Given the description of an element on the screen output the (x, y) to click on. 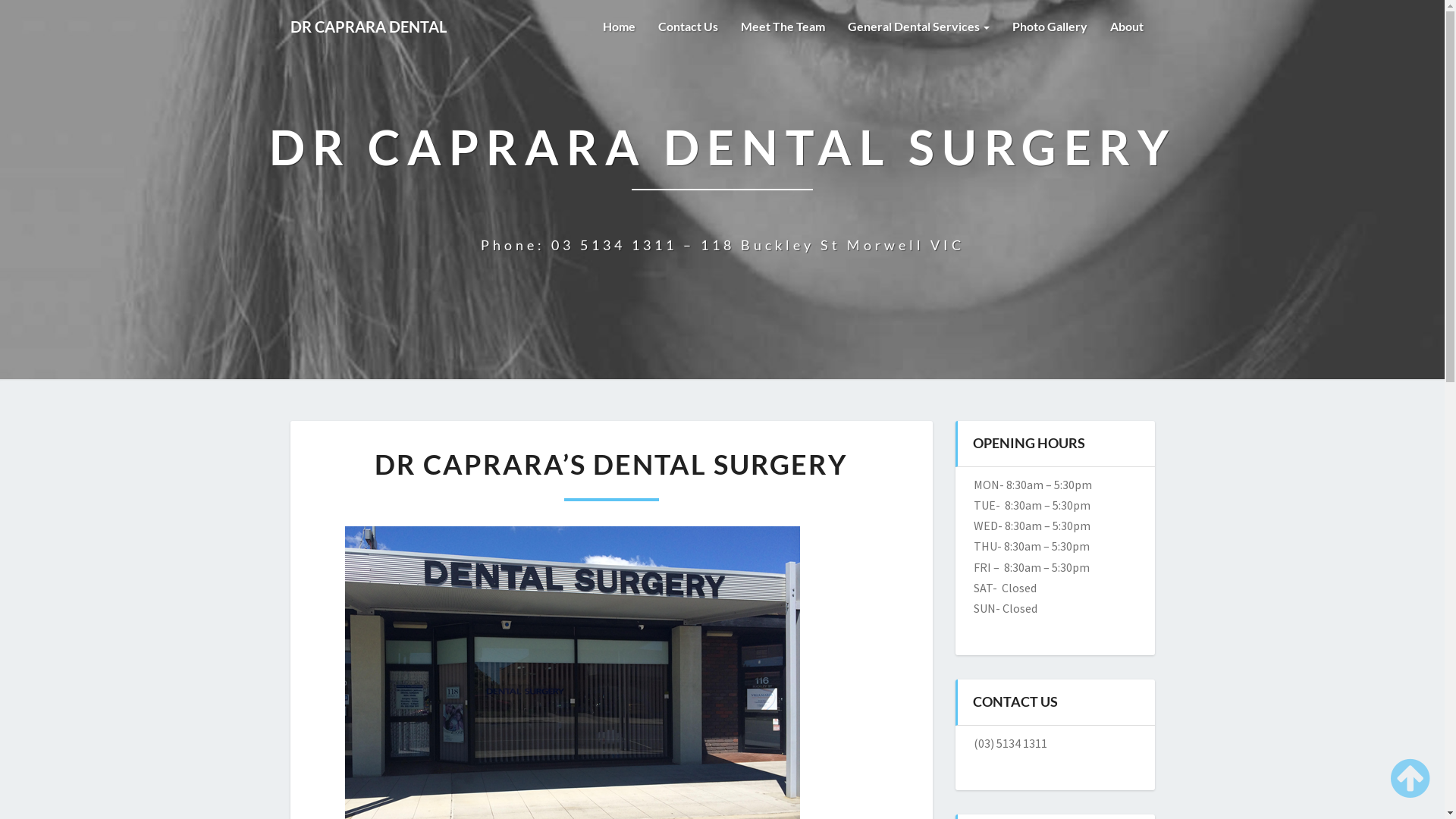
Contact Us Element type: text (687, 26)
Meet The Team Element type: text (782, 26)
(03) 5134 1311 Element type: text (1010, 742)
General Dental Services Element type: text (917, 26)
Home Element type: text (618, 26)
Photo Gallery Element type: text (1049, 26)
About Element type: text (1126, 26)
